Given the description of an element on the screen output the (x, y) to click on. 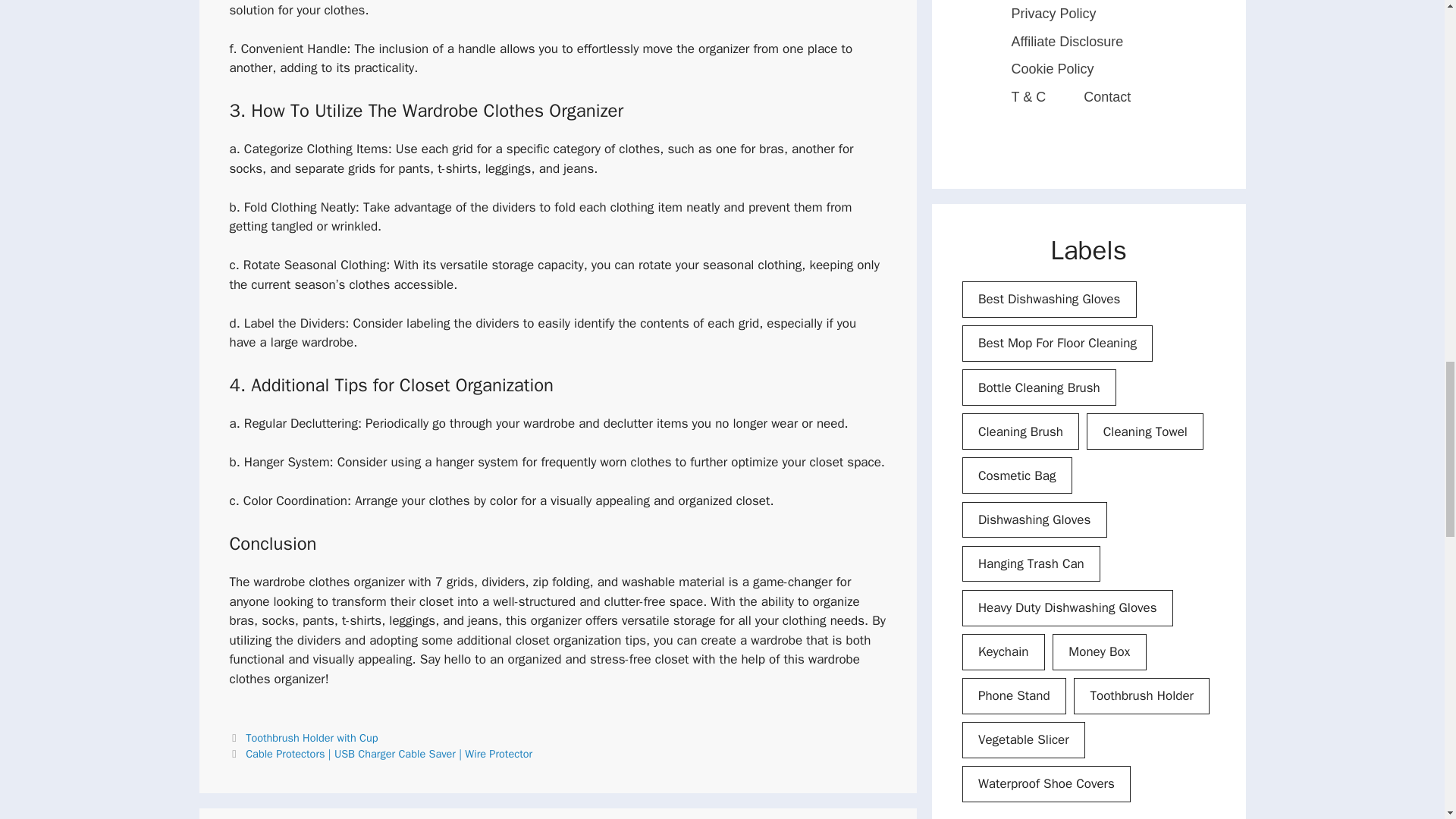
Cookie Policy (1051, 69)
Privacy Policy (1053, 14)
Toothbrush Holder with Cup (311, 737)
Affiliate Disclosure (1066, 42)
